Given the description of an element on the screen output the (x, y) to click on. 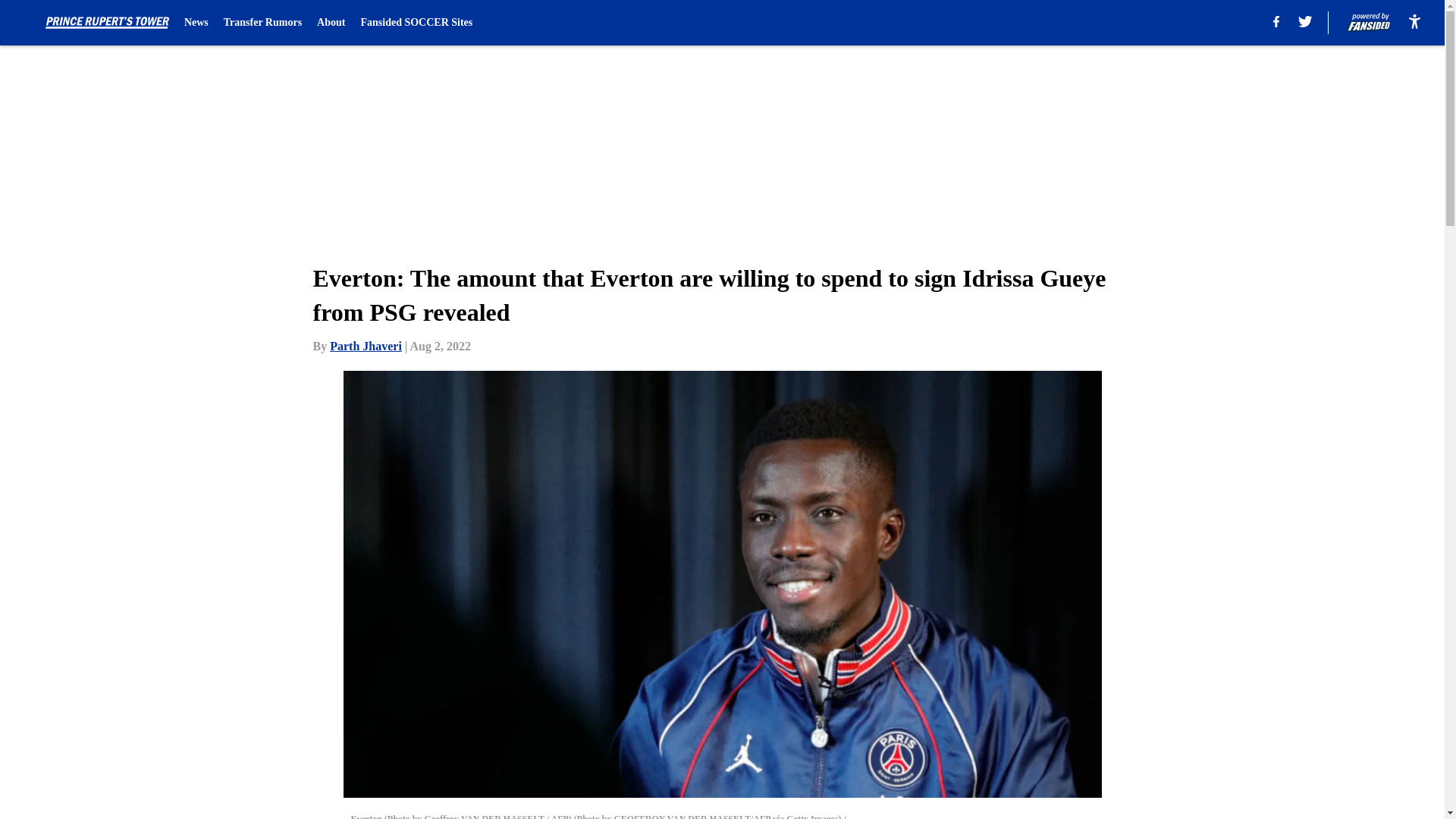
About (331, 22)
News (196, 22)
Fansided SOCCER Sites (415, 22)
Parth Jhaveri (365, 345)
Transfer Rumors (262, 22)
